Given the description of an element on the screen output the (x, y) to click on. 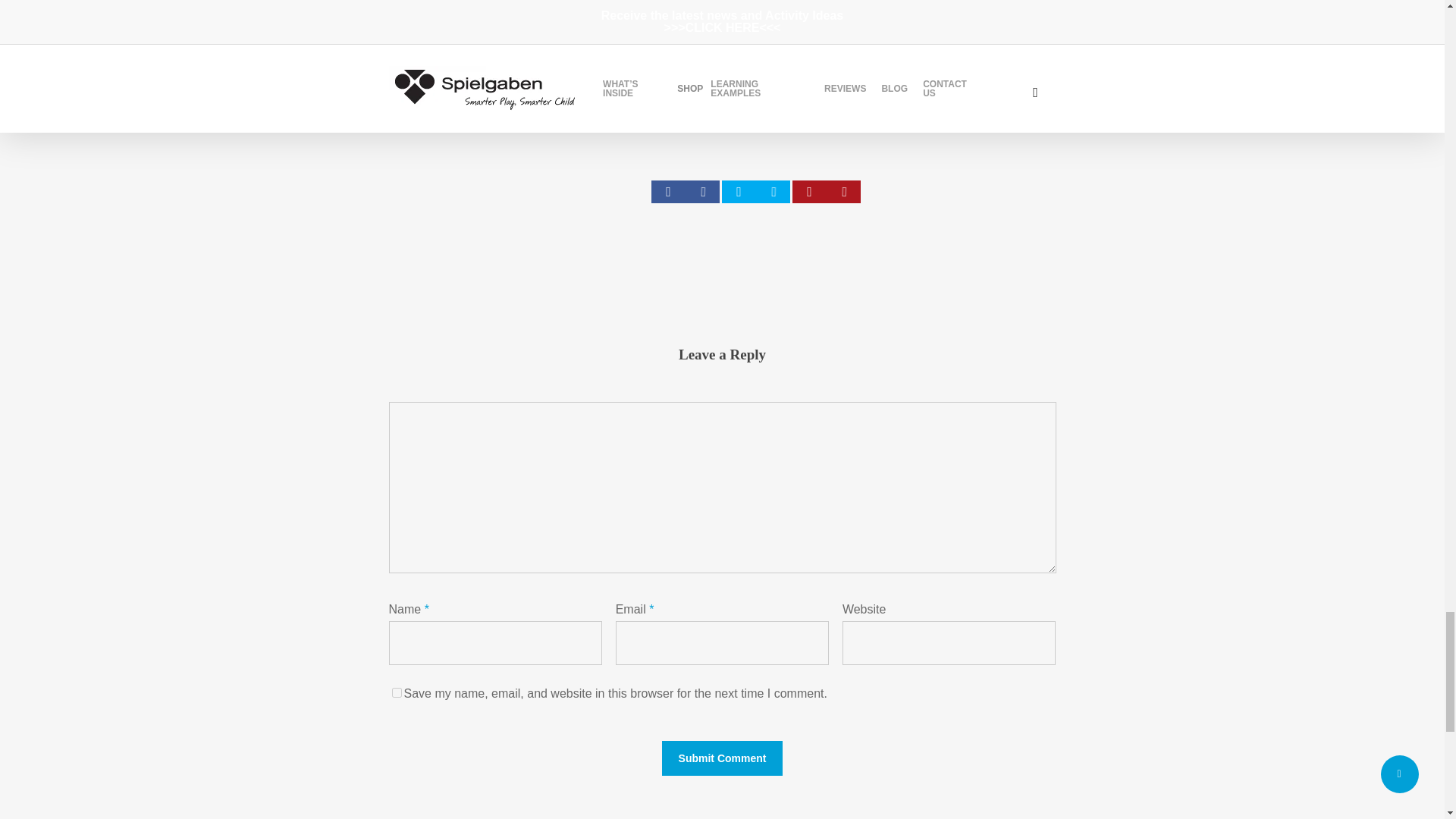
yes (396, 692)
Submit Comment (722, 758)
